Given the description of an element on the screen output the (x, y) to click on. 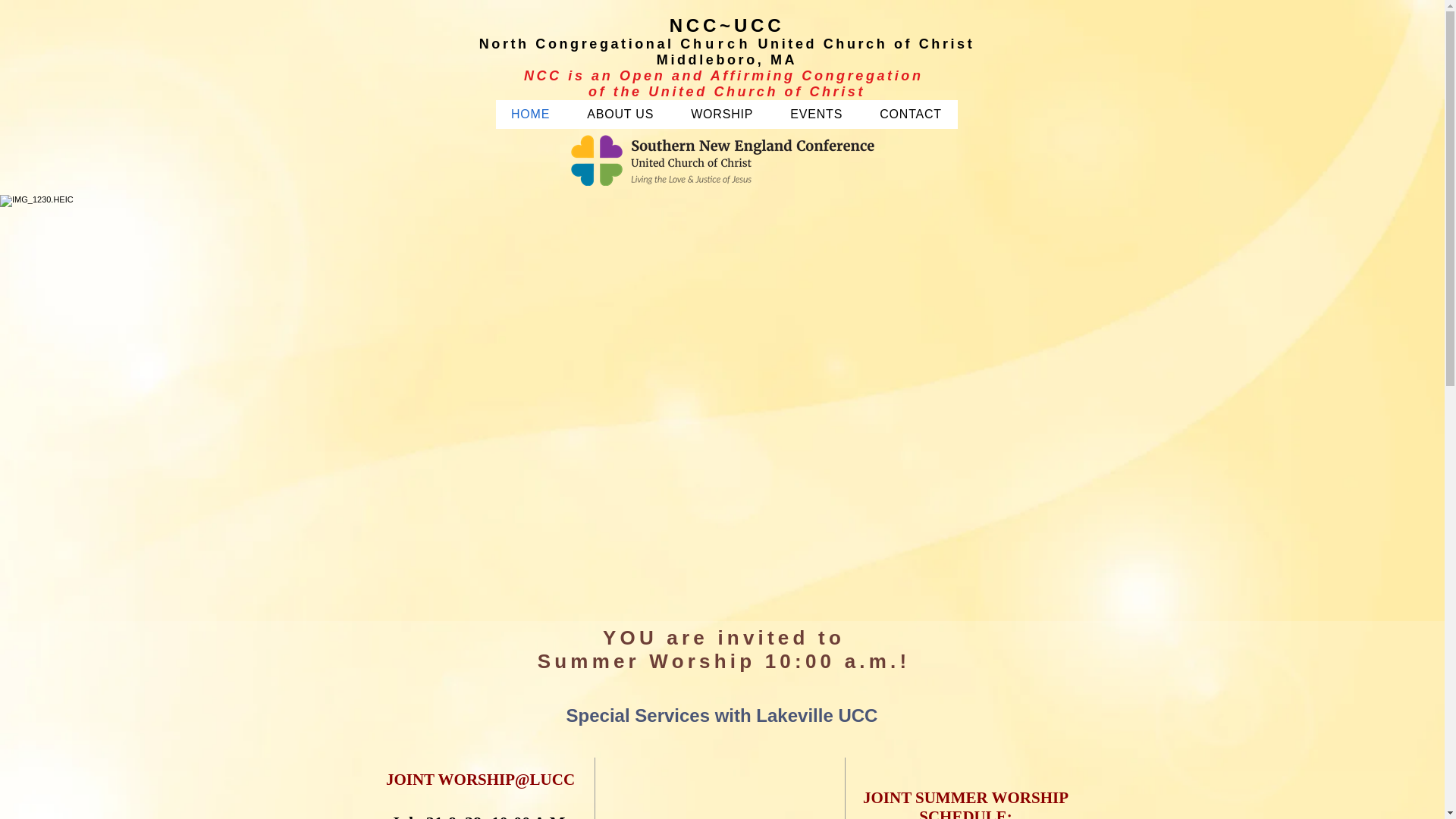
ABOUT US (620, 113)
WORSHIP (721, 113)
EVENTS (816, 113)
HOME (531, 113)
CONTACT (911, 113)
